Given the description of an element on the screen output the (x, y) to click on. 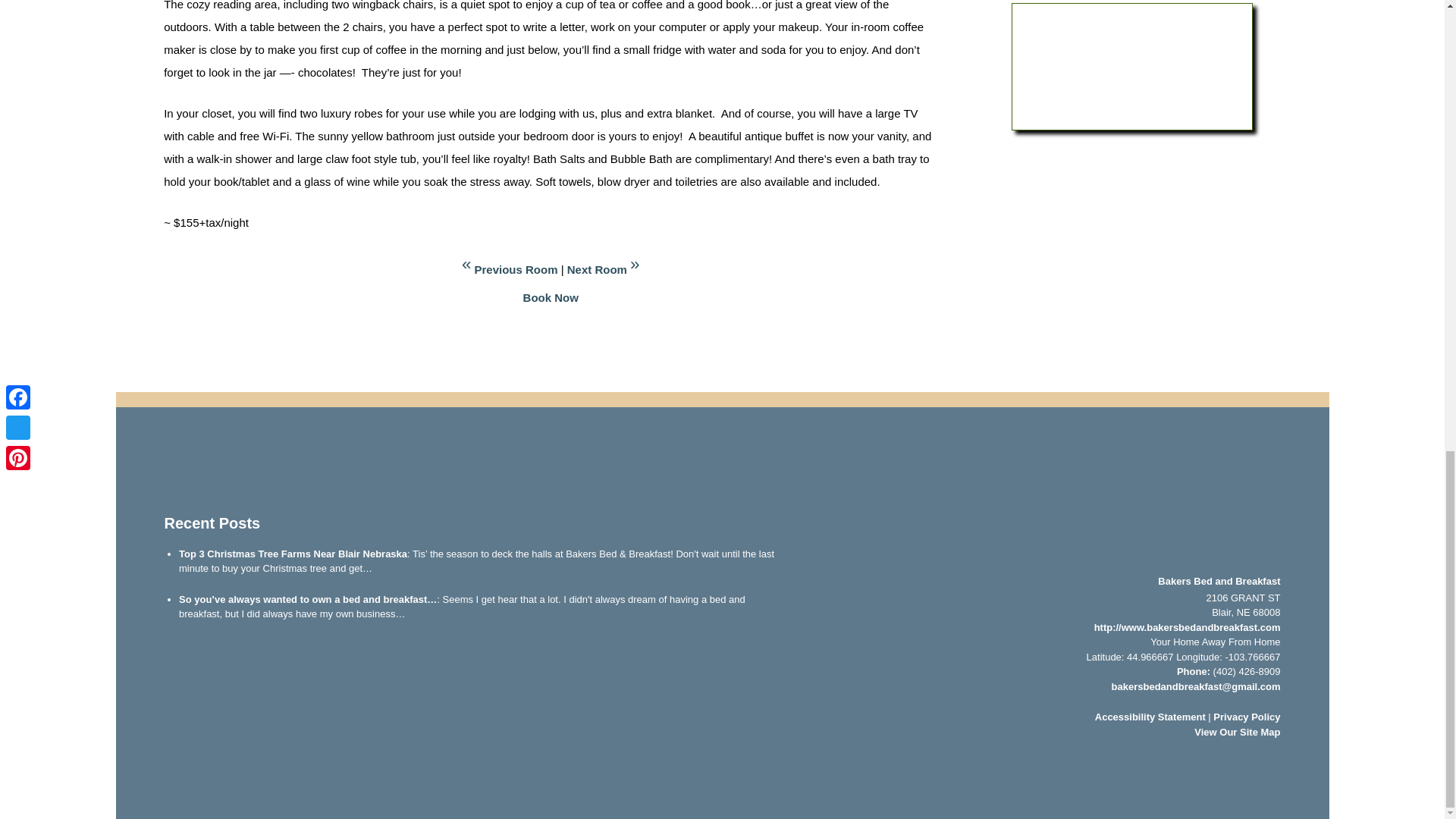
Top 3 Christmas Tree Farms Near Blair Nebraska (293, 553)
See us on Instagram (273, 474)
Next Room (605, 269)
Bakers Bed and Breakfast (1165, 512)
Previous Room (507, 269)
Like us on Facebook (182, 474)
Read our Blog (228, 474)
Read Reviews (318, 474)
Book Now (550, 297)
NABB (284, 763)
